Given the description of an element on the screen output the (x, y) to click on. 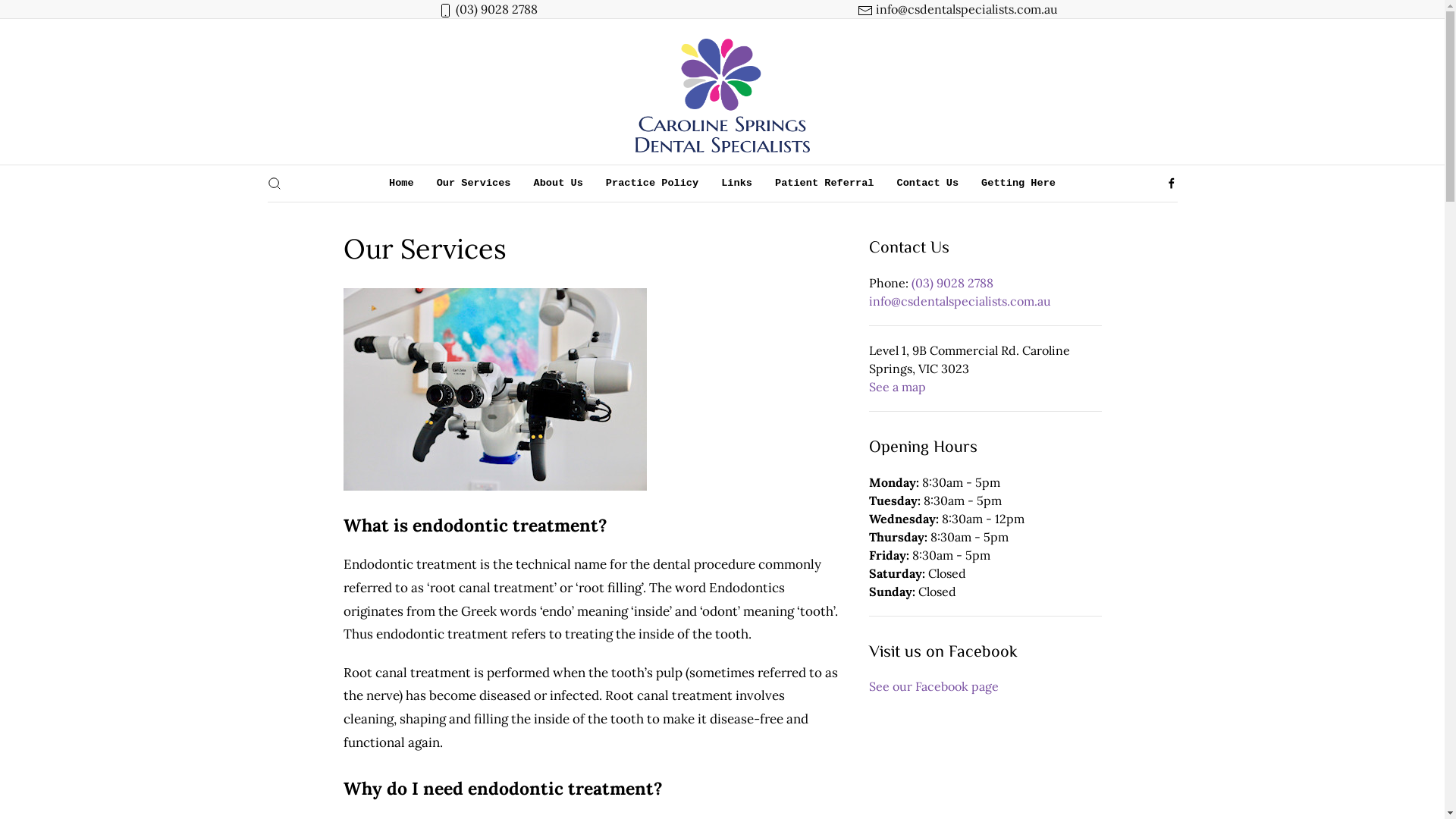
About Us Element type: text (558, 183)
Home Element type: text (401, 183)
Patient Referral Element type: text (824, 183)
Getting Here Element type: text (1017, 183)
Practice Policy Element type: text (651, 183)
(03) 9028 2788 Element type: text (952, 282)
Links Element type: text (736, 183)
See our Facebook page Element type: text (933, 685)
info@csdentalspecialists.com.au Element type: text (966, 8)
Contact Us Element type: text (927, 183)
(03) 9028 2788 Element type: text (495, 8)
See a map Element type: text (897, 386)
info@csdentalspecialists.com.au Element type: text (960, 300)
Our Services Element type: text (473, 183)
